Given the description of an element on the screen output the (x, y) to click on. 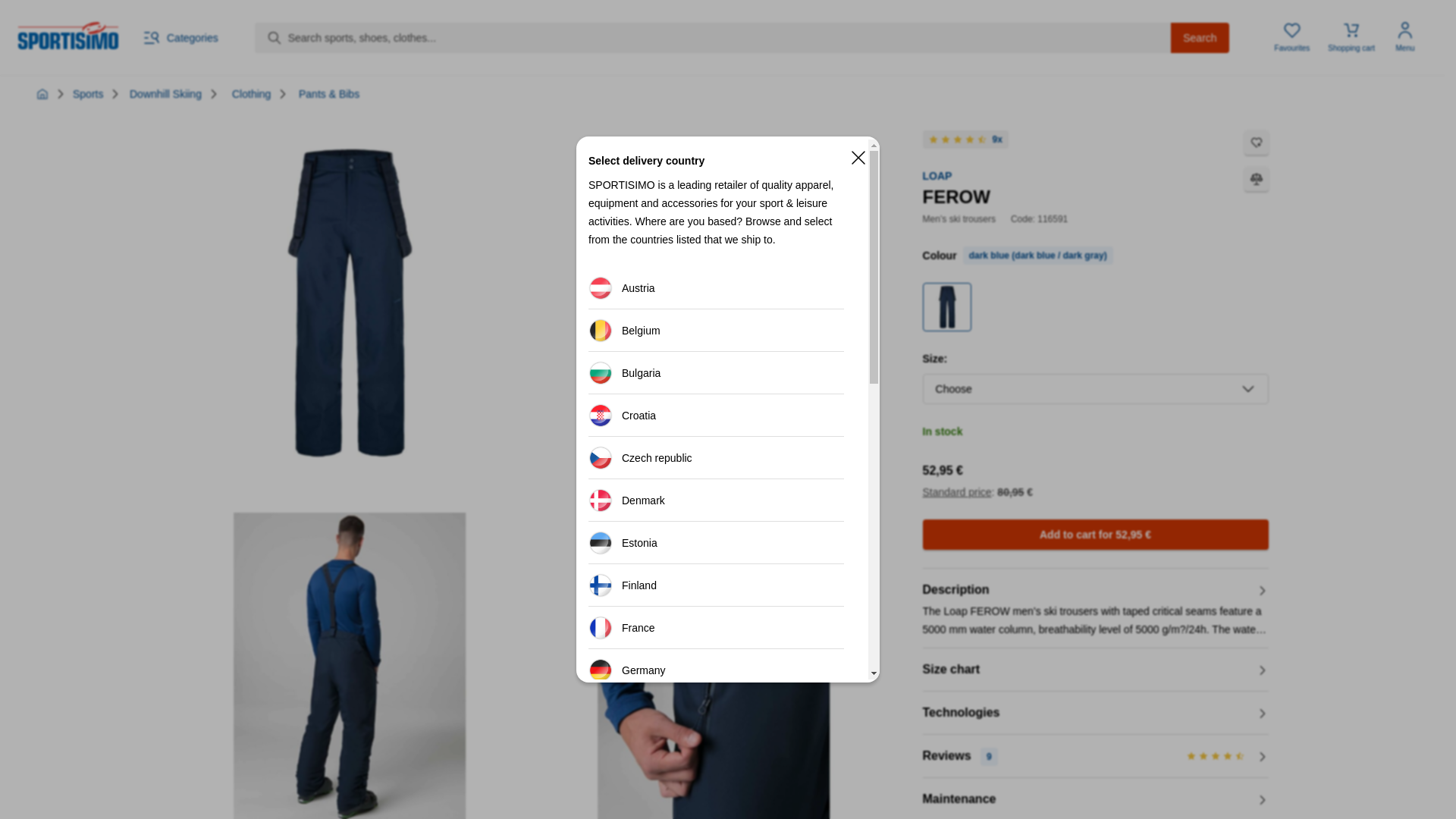
Alpine Skiing (165, 93)
Sportisimo.com (67, 34)
Ski clothing (250, 93)
Compare (1255, 178)
SPORTISIMO - EVERYTHING FOR SPORTS AND LEISURE TIME (42, 93)
Downhill Skiing (165, 93)
Search (1199, 37)
Menu (1405, 37)
Clothing (250, 93)
Shopping cart (1351, 37)
Sports (87, 93)
Favourites (1292, 37)
LOAP (937, 175)
Categories (180, 37)
